Given the description of an element on the screen output the (x, y) to click on. 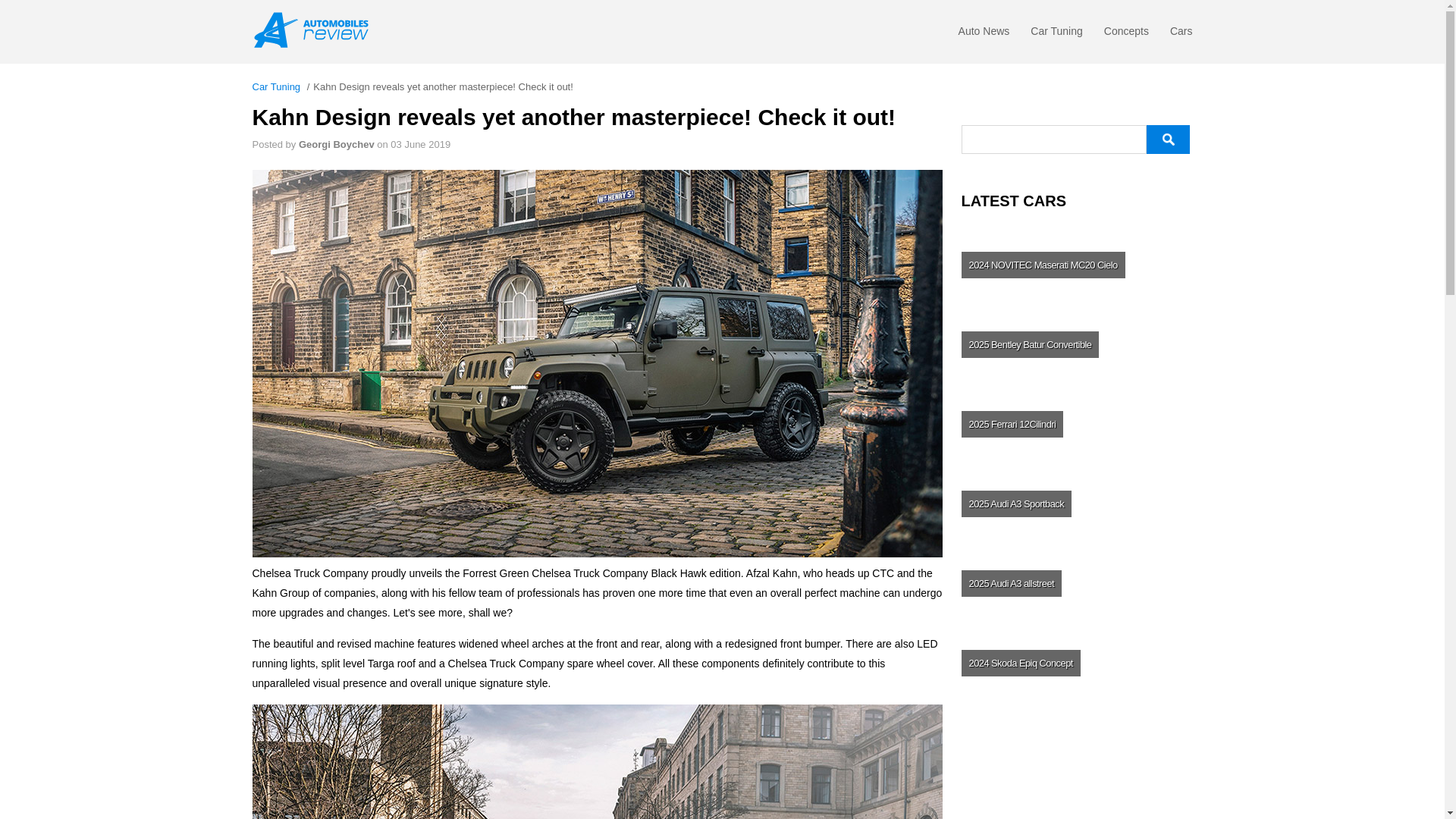
Automobilesreview.com (315, 30)
NOVITEC Maserati MC20 Cielo (1074, 264)
Cars (1181, 35)
Auto News (984, 35)
Car Tuning (1055, 35)
Skoda Epiq Concept (1074, 662)
Concepts (1125, 35)
Car Tuning (275, 86)
Audi A3 allstreet (1074, 582)
Car Tuning (1055, 35)
